Given the description of an element on the screen output the (x, y) to click on. 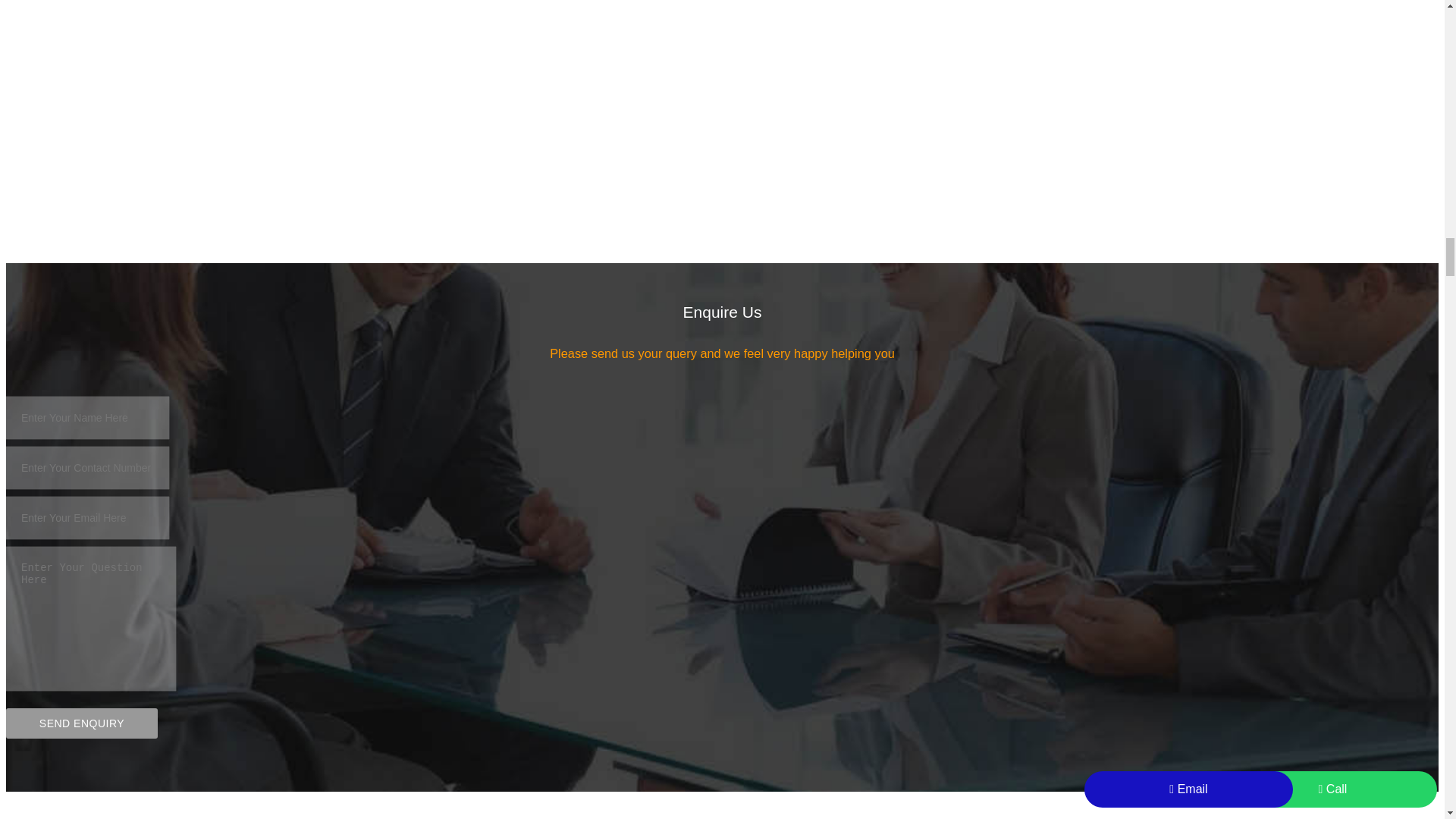
Send Enquiry (81, 723)
